Given the description of an element on the screen output the (x, y) to click on. 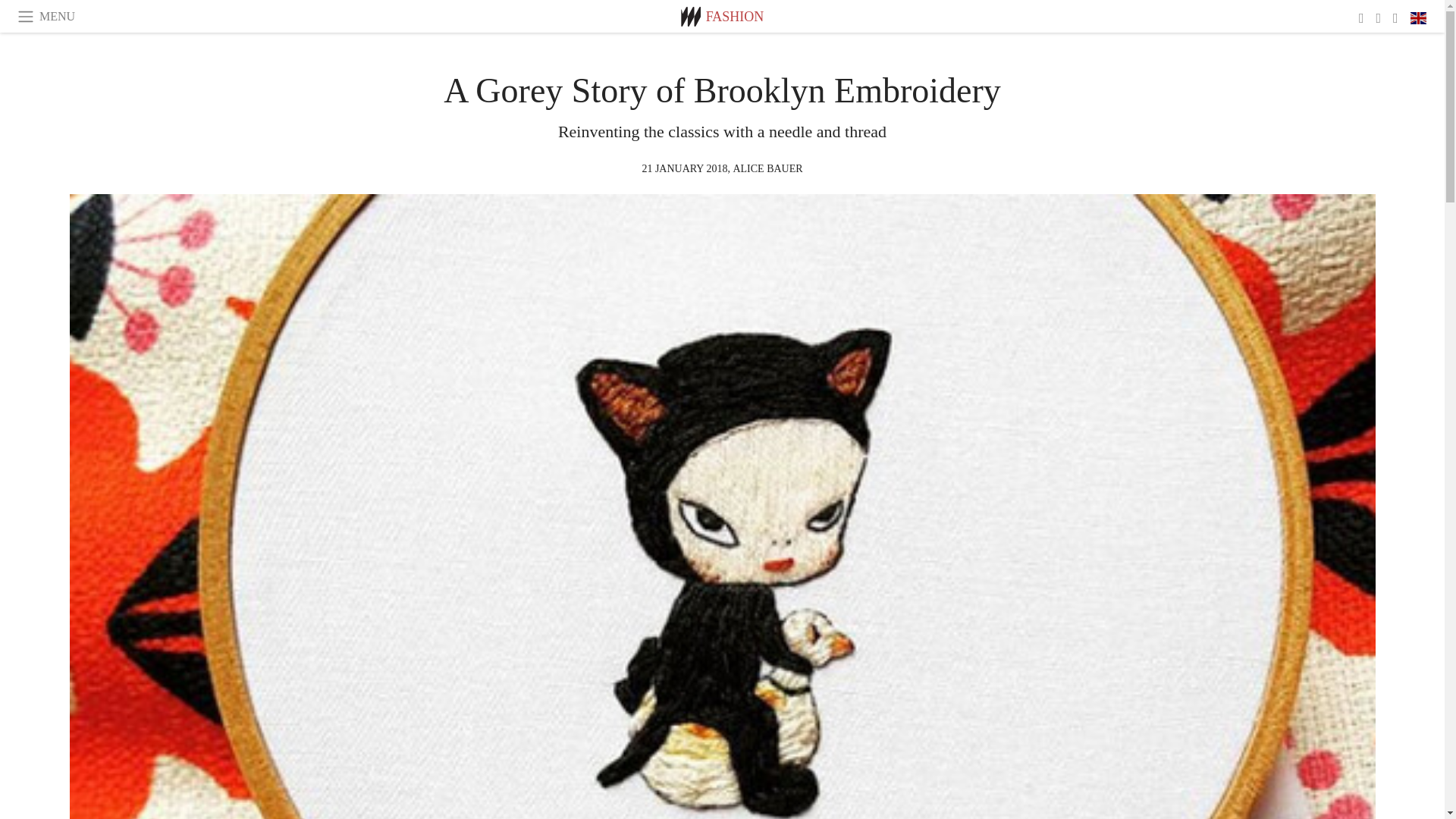
FASHION (735, 16)
